Given the description of an element on the screen output the (x, y) to click on. 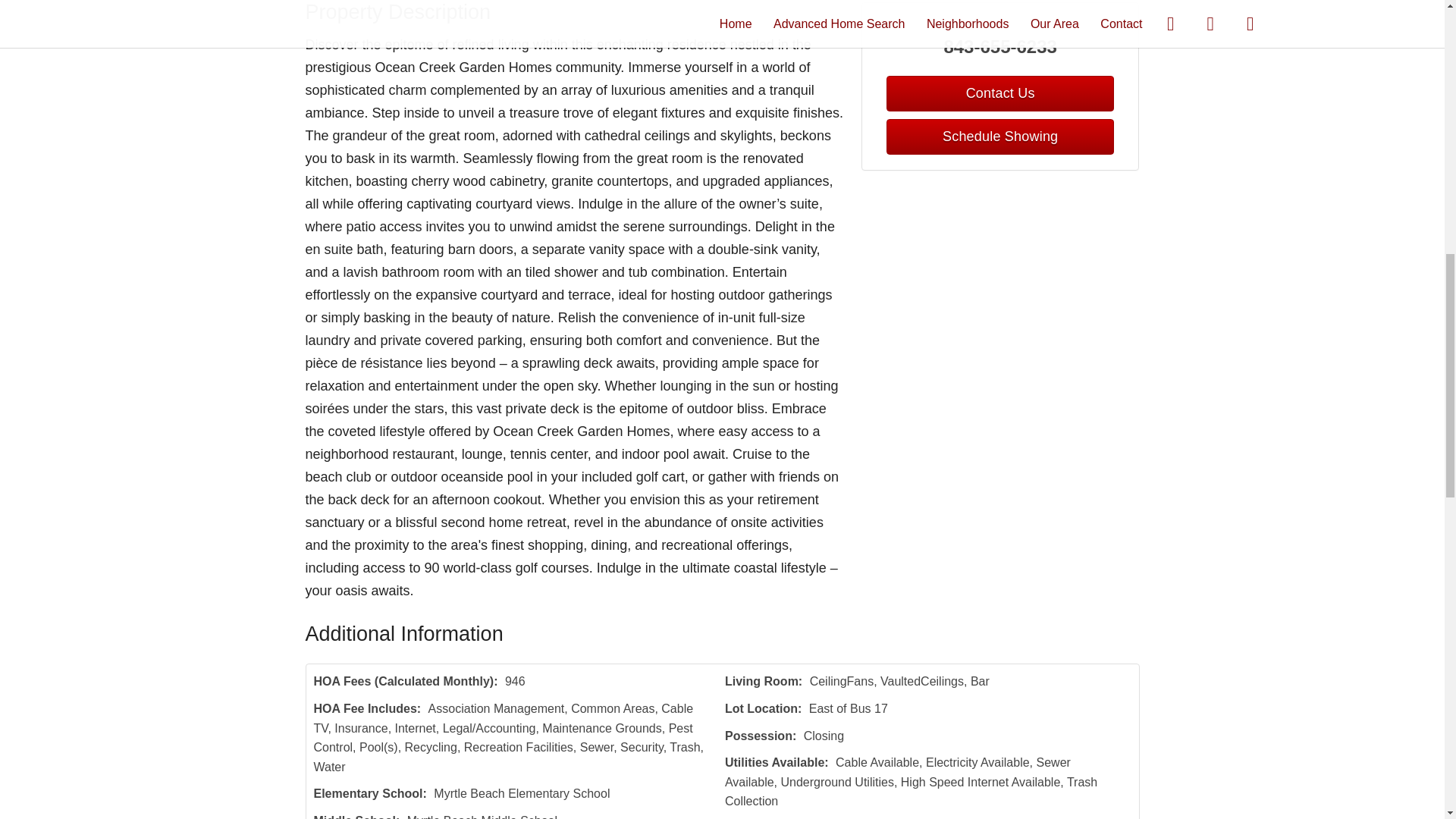
Schedule Showing (999, 136)
843-655-6233 (1000, 46)
Contact Us (999, 93)
